Given the description of an element on the screen output the (x, y) to click on. 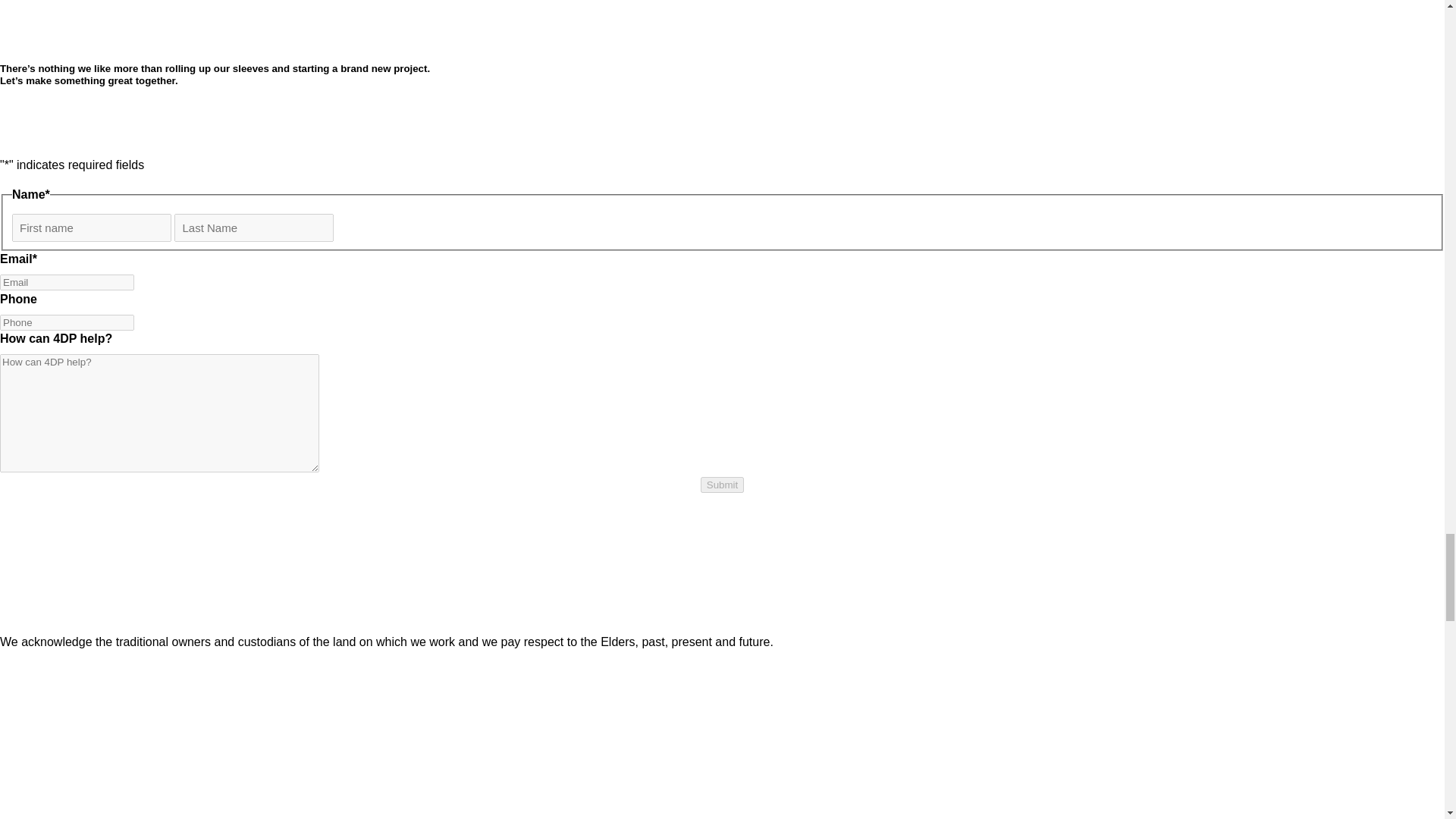
Submit (722, 484)
4DP Logomark 1 (45, 22)
Submit (722, 484)
LinkedIn Logo (75, 802)
